Given the description of an element on the screen output the (x, y) to click on. 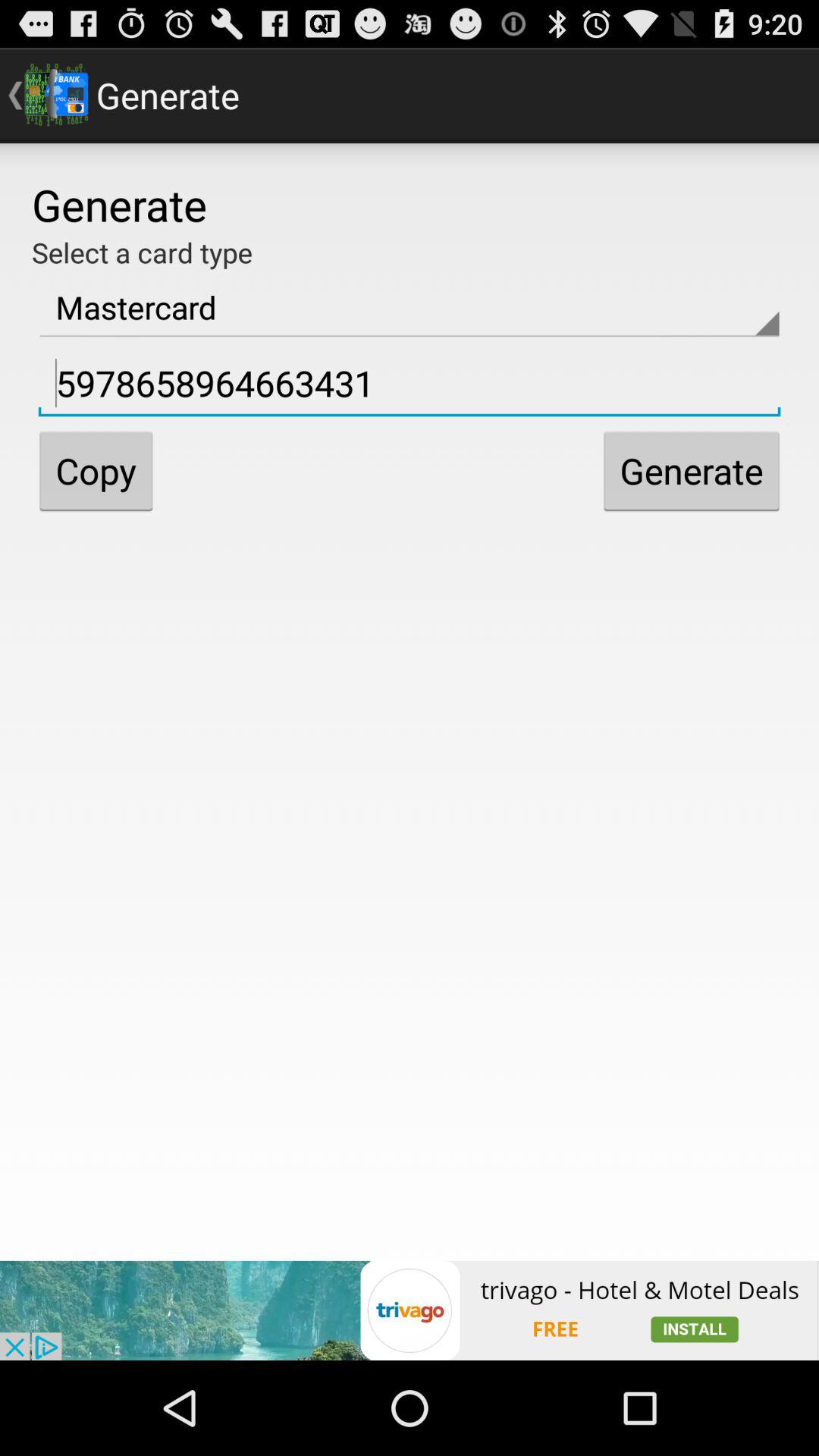
add the option (409, 1310)
